Given the description of an element on the screen output the (x, y) to click on. 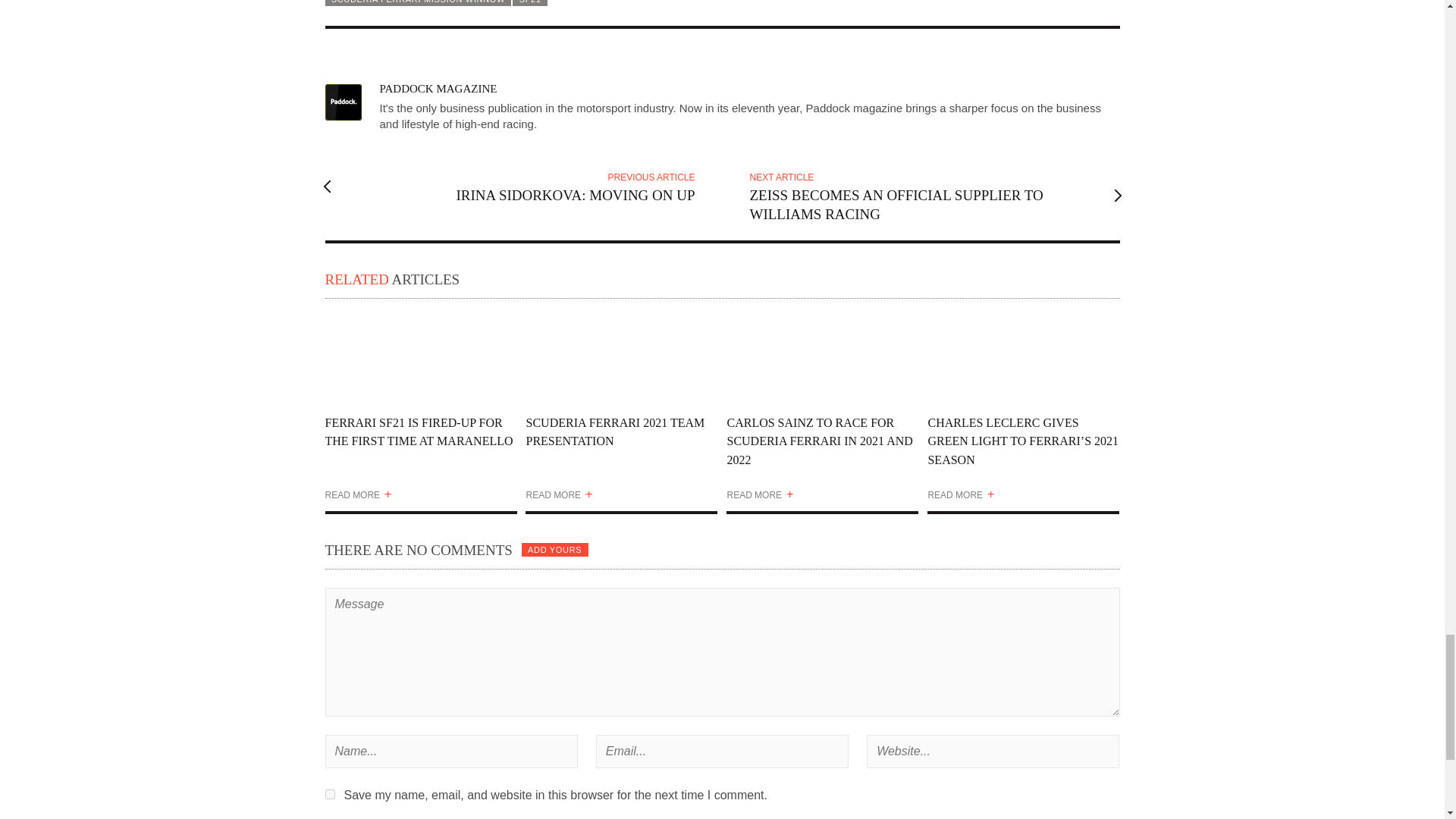
yes (329, 794)
View all posts tagged Scuderia Ferrari Mission Winnow (417, 2)
View all posts tagged SF21 (529, 2)
